Given the description of an element on the screen output the (x, y) to click on. 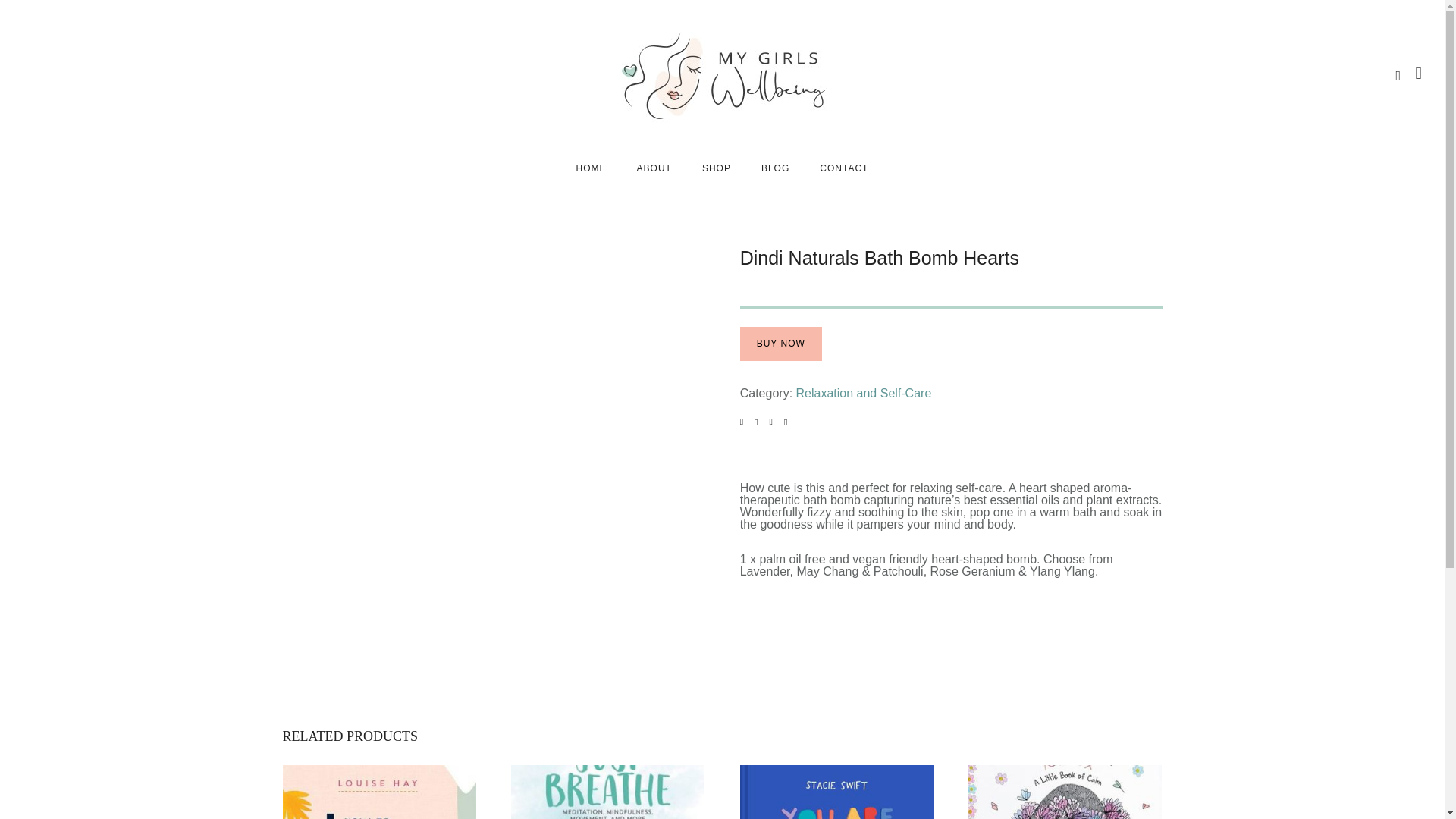
HOME (590, 167)
BLOG (775, 167)
Blog (775, 167)
Contact (844, 167)
BUY NOW (780, 343)
Shop (716, 167)
About (654, 167)
CONTACT (844, 167)
Home (590, 167)
ABOUT (654, 167)
